Given the description of an element on the screen output the (x, y) to click on. 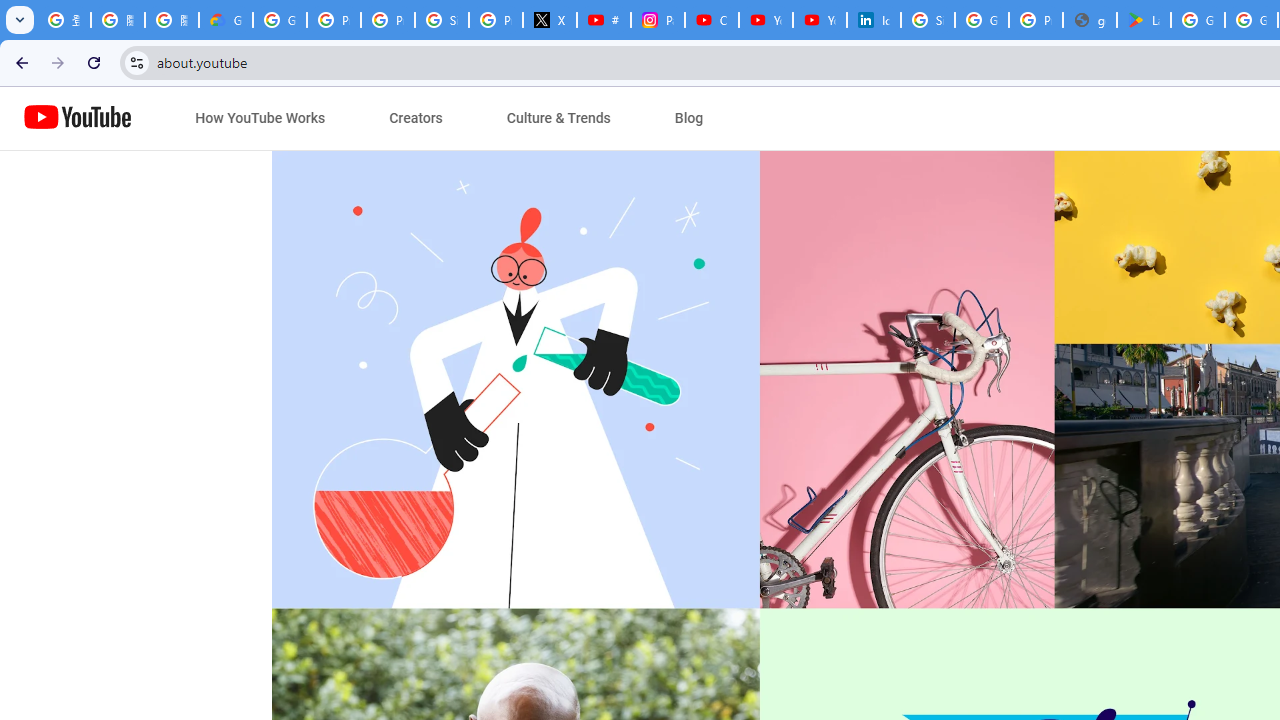
Sign in - Google Accounts (441, 20)
Last Shelter: Survival - Apps on Google Play (1144, 20)
Google Cloud Privacy Notice (225, 20)
google_privacy_policy_en.pdf (1089, 20)
Jump to content (186, 119)
